Given the description of an element on the screen output the (x, y) to click on. 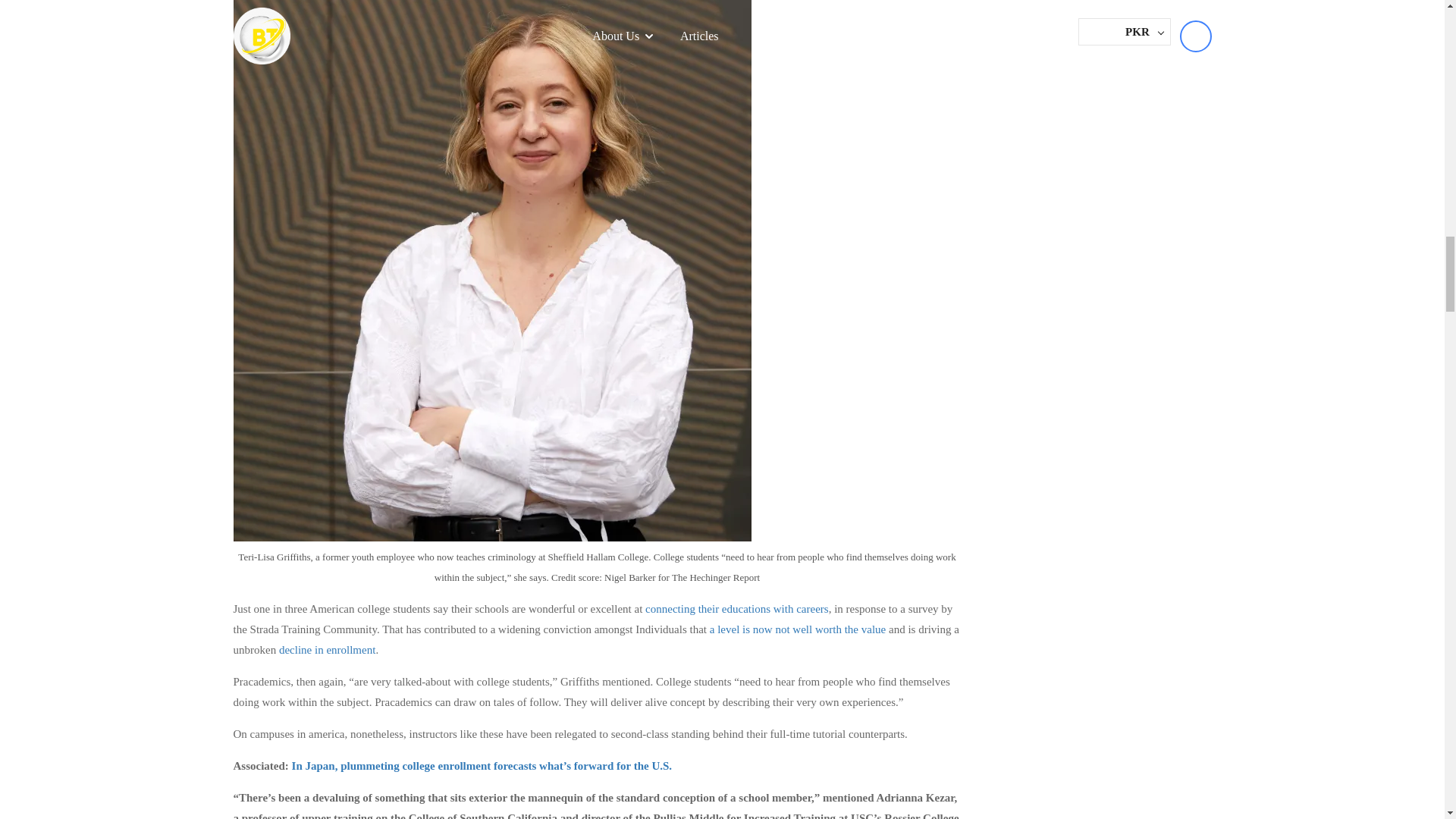
connecting their educations with careers (736, 608)
a level is now not well worth the value (797, 629)
decline in enrollment (327, 649)
